Given the description of an element on the screen output the (x, y) to click on. 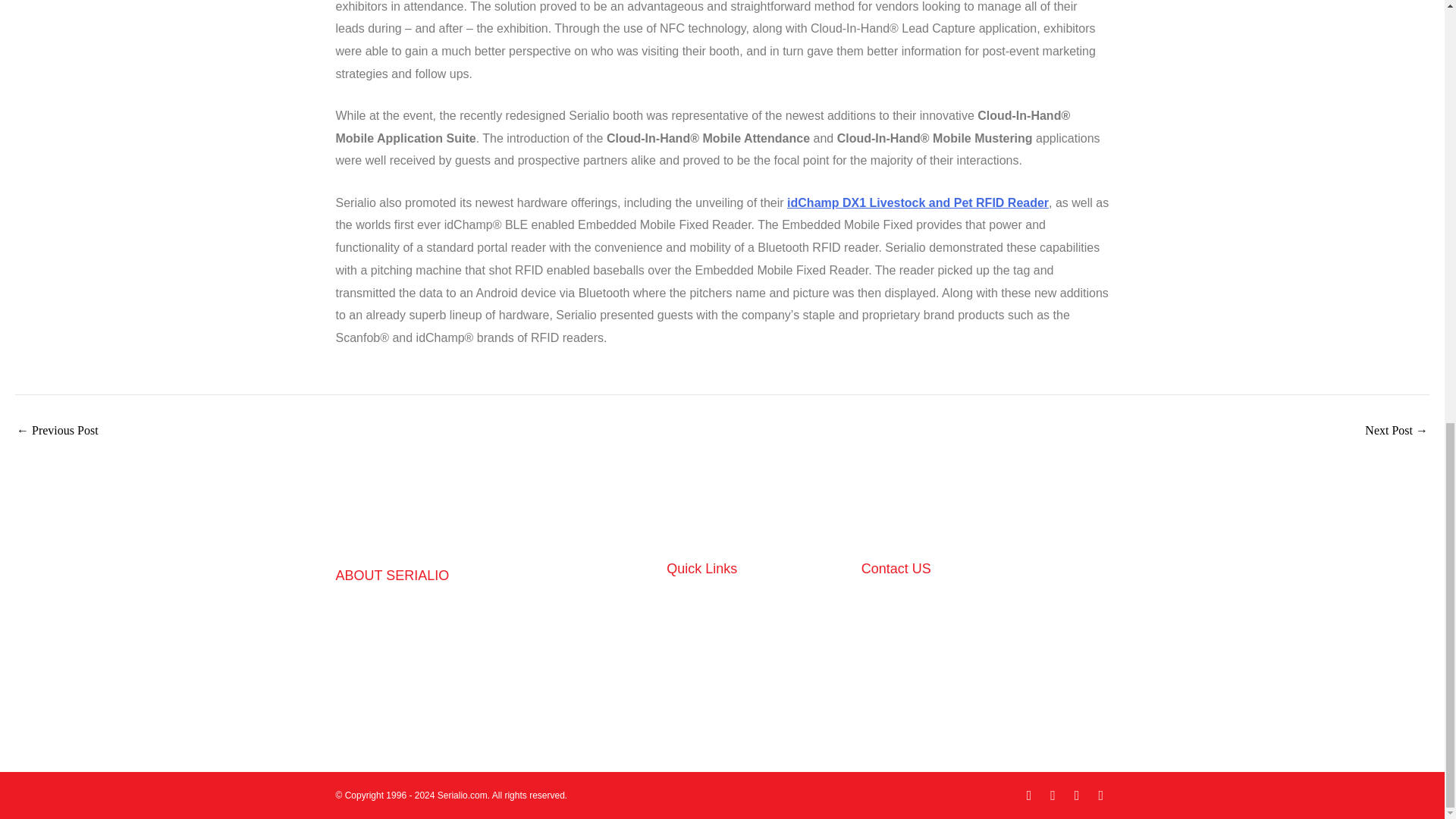
Home (755, 602)
Solutions (755, 623)
idChamp DX1 Livestock and Pet RFID Reader (917, 202)
About Serialio (755, 684)
Shop (755, 643)
Visit Serialio.com at RFID Journal LIVE! 2016 (57, 430)
Support (755, 664)
